Given the description of an element on the screen output the (x, y) to click on. 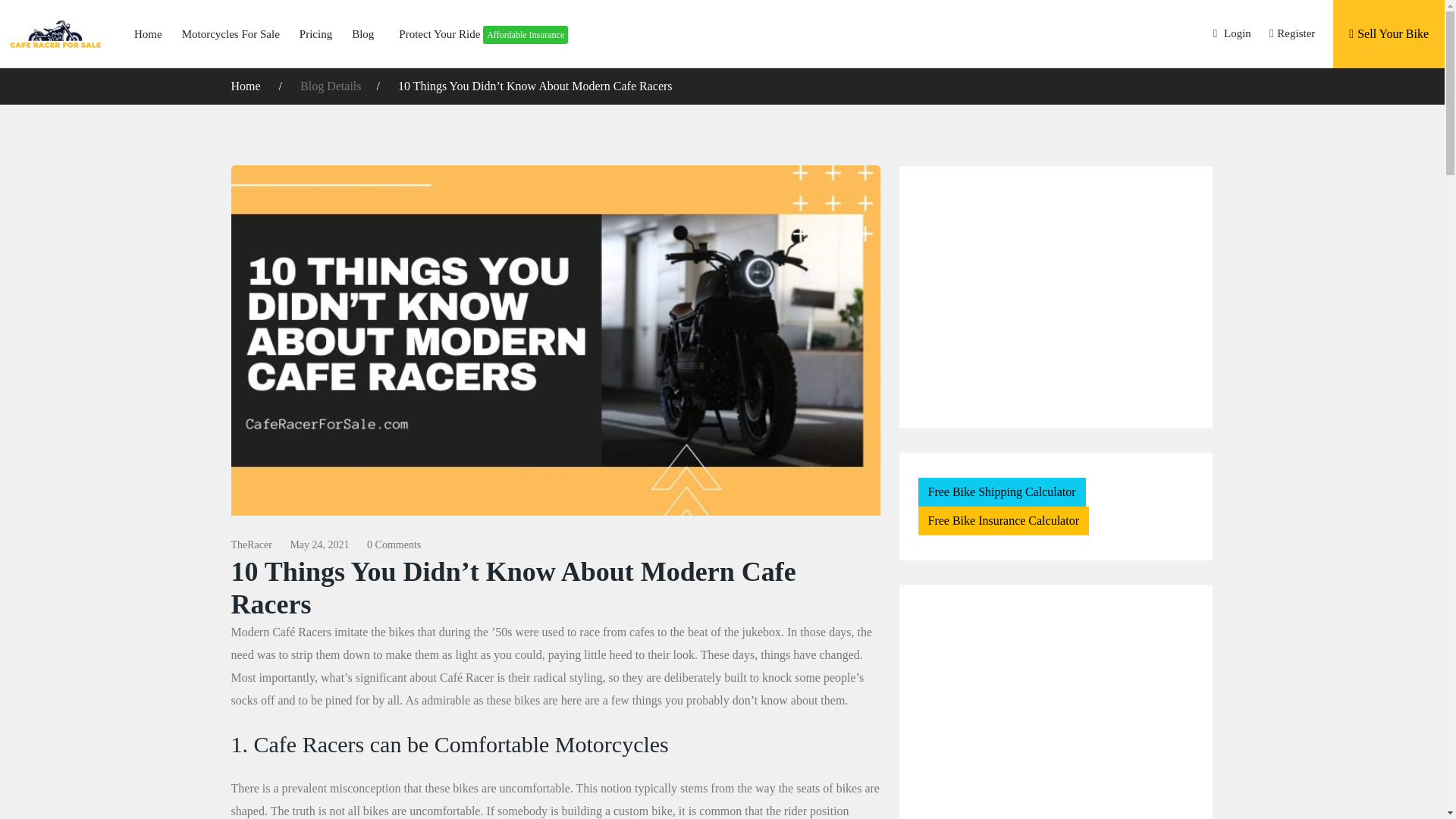
Protect Your Ride Affordable Insurance (475, 33)
Motorcycles For Sale (230, 33)
Advertisement (1055, 296)
TheRacer (250, 544)
Sell Your Bike (1388, 33)
Login (1231, 33)
Advertisement (1055, 714)
Register (1291, 33)
Blog Details (330, 85)
May 24, 2021 (319, 544)
